Given the description of an element on the screen output the (x, y) to click on. 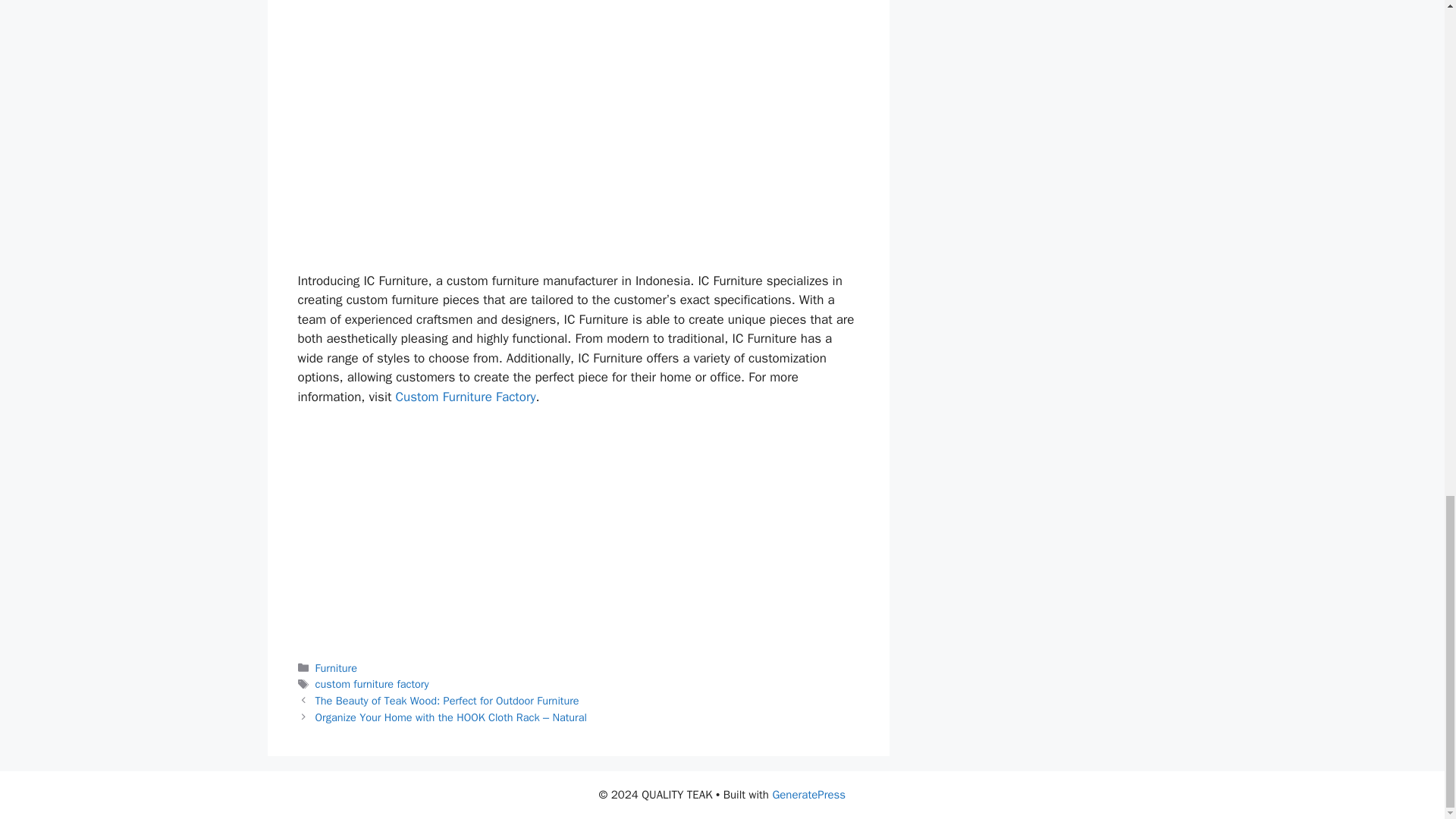
Advertisement (578, 59)
Advertisement (578, 195)
The Beauty of Teak Wood: Perfect for Outdoor Furniture (447, 700)
Advertisement (578, 531)
custom furniture factory (372, 684)
Custom Furniture Factory (465, 396)
GeneratePress (808, 794)
Furniture (335, 667)
